Given the description of an element on the screen output the (x, y) to click on. 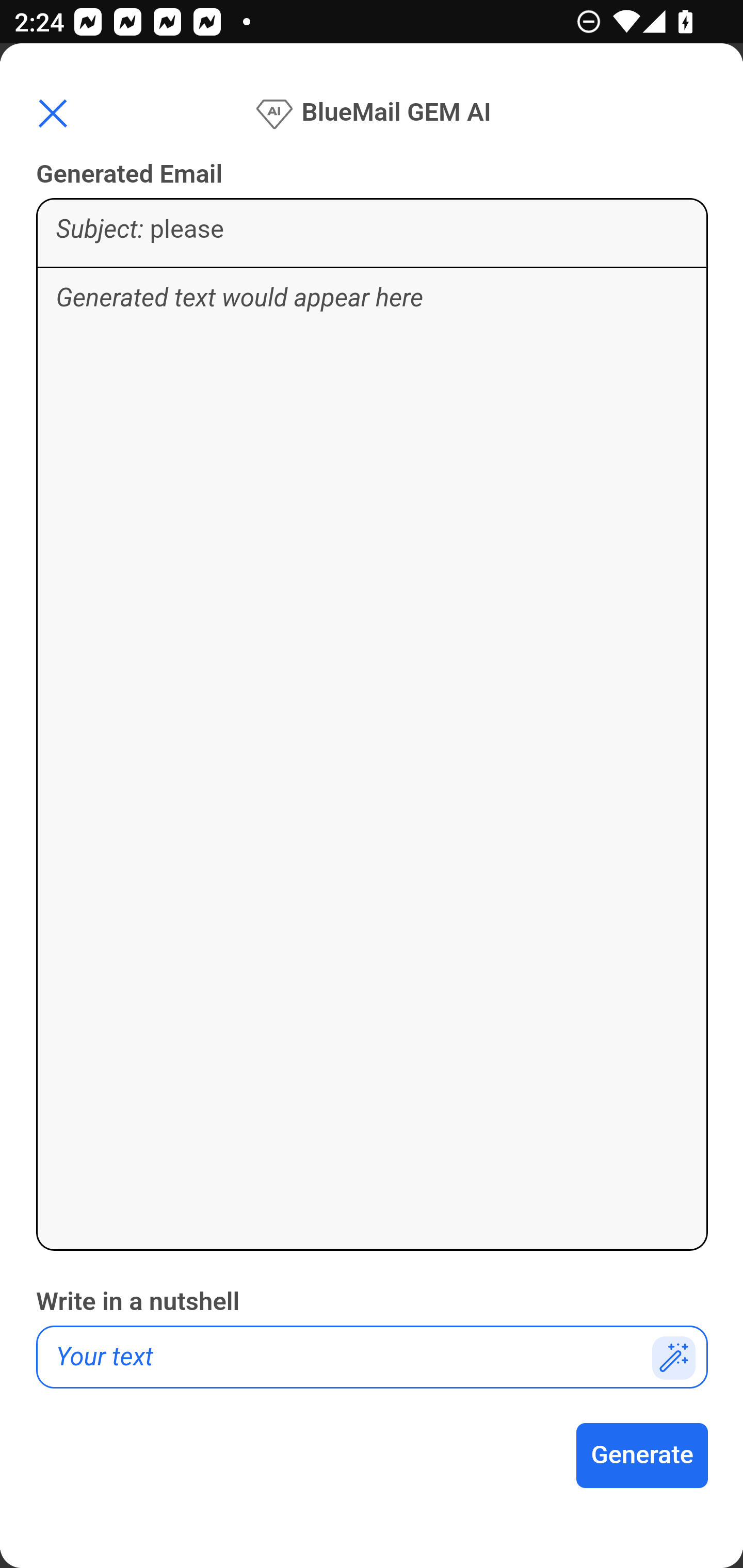
Generate (642, 1455)
